Given the description of an element on the screen output the (x, y) to click on. 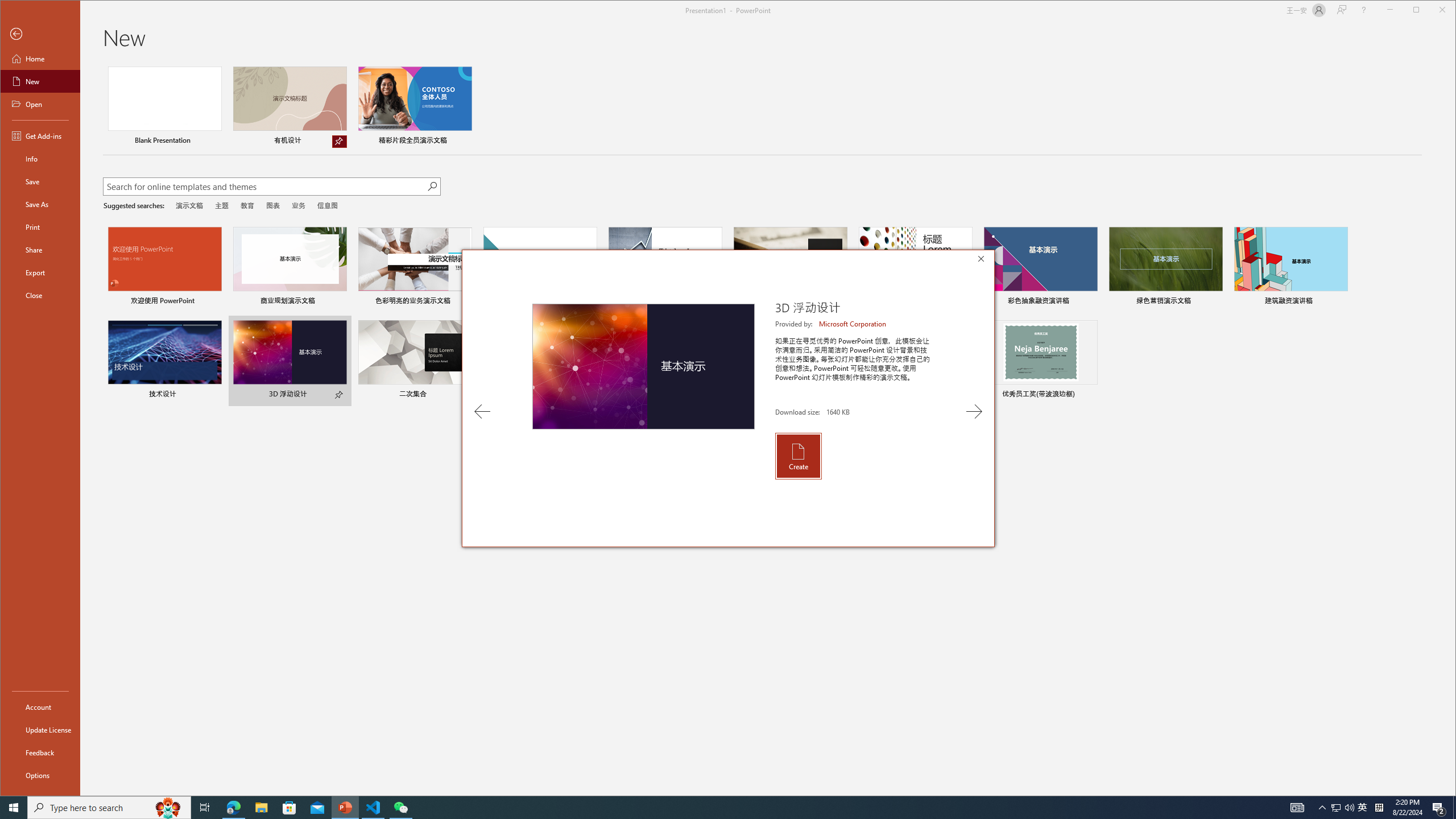
Info (40, 158)
Update License (40, 729)
Previous Template (481, 411)
Next Template (974, 411)
